Given the description of an element on the screen output the (x, y) to click on. 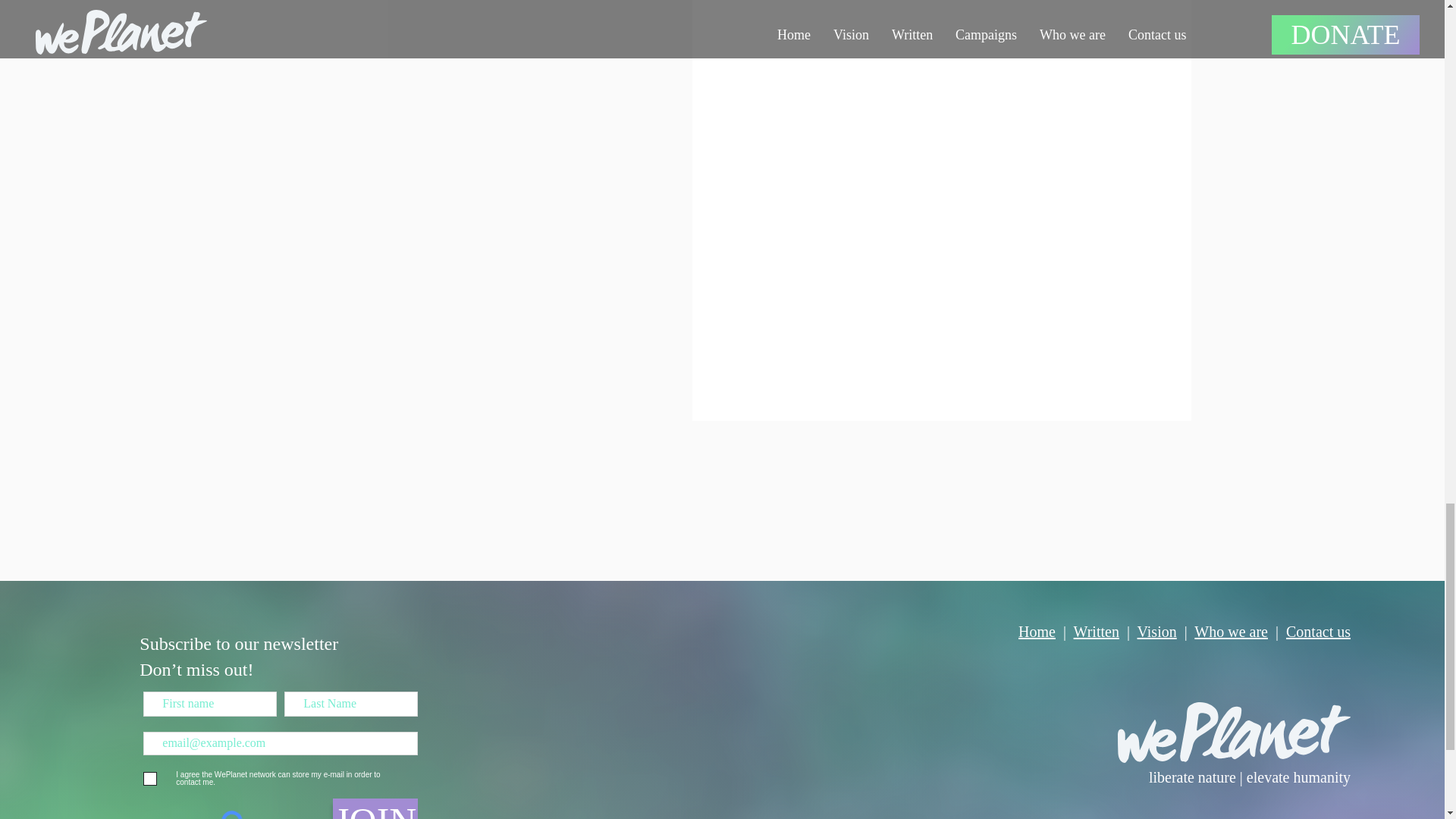
Who we are (1230, 631)
Contact us (1318, 631)
Home (1036, 631)
Written (1096, 631)
Vision (1156, 631)
JOIN (375, 808)
